Given the description of an element on the screen output the (x, y) to click on. 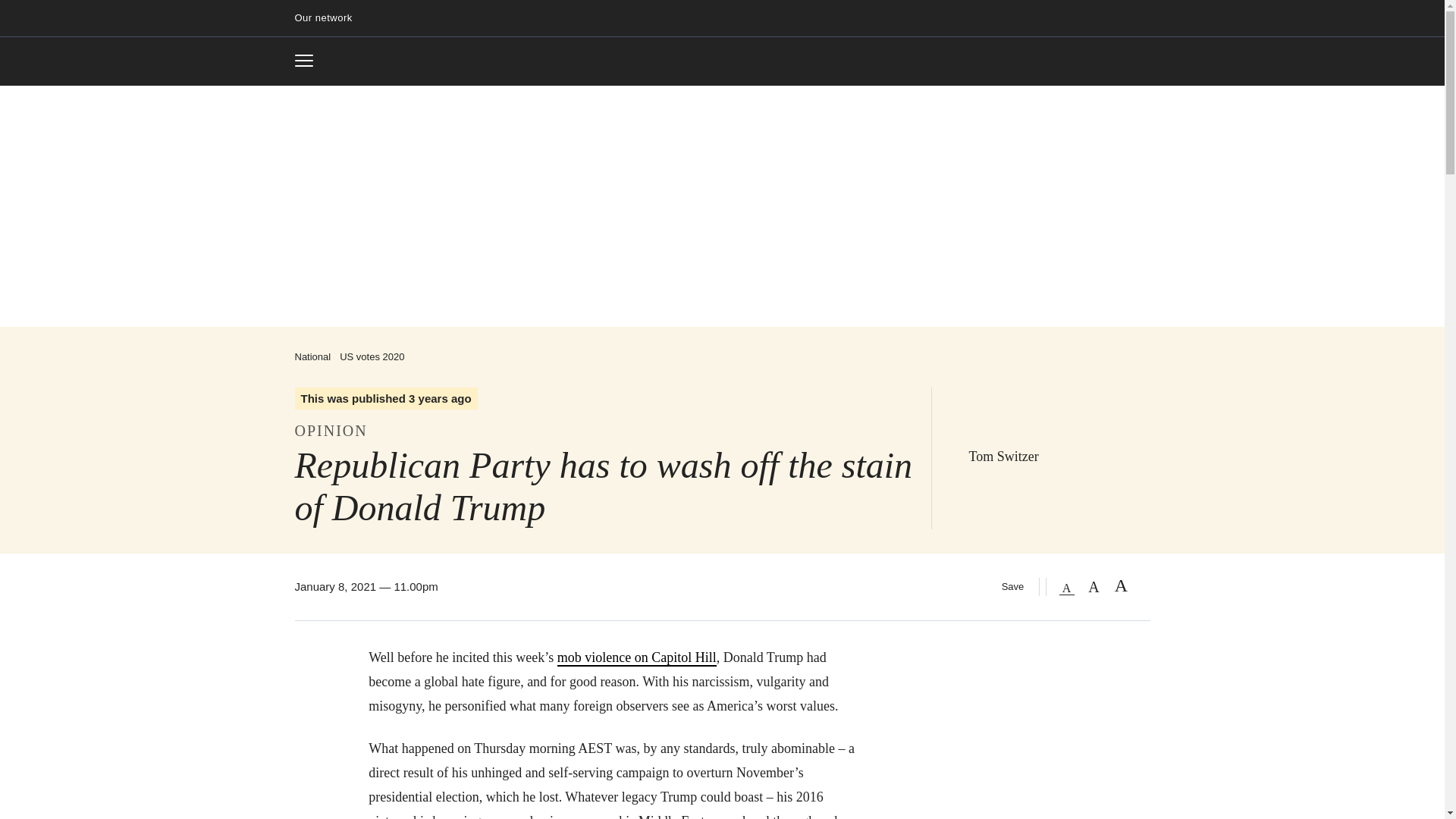
Brisbane Times (722, 61)
Articles by Tom Switzer (1003, 456)
National (312, 356)
US votes 2020 (309, 60)
Our network (371, 356)
